Given the description of an element on the screen output the (x, y) to click on. 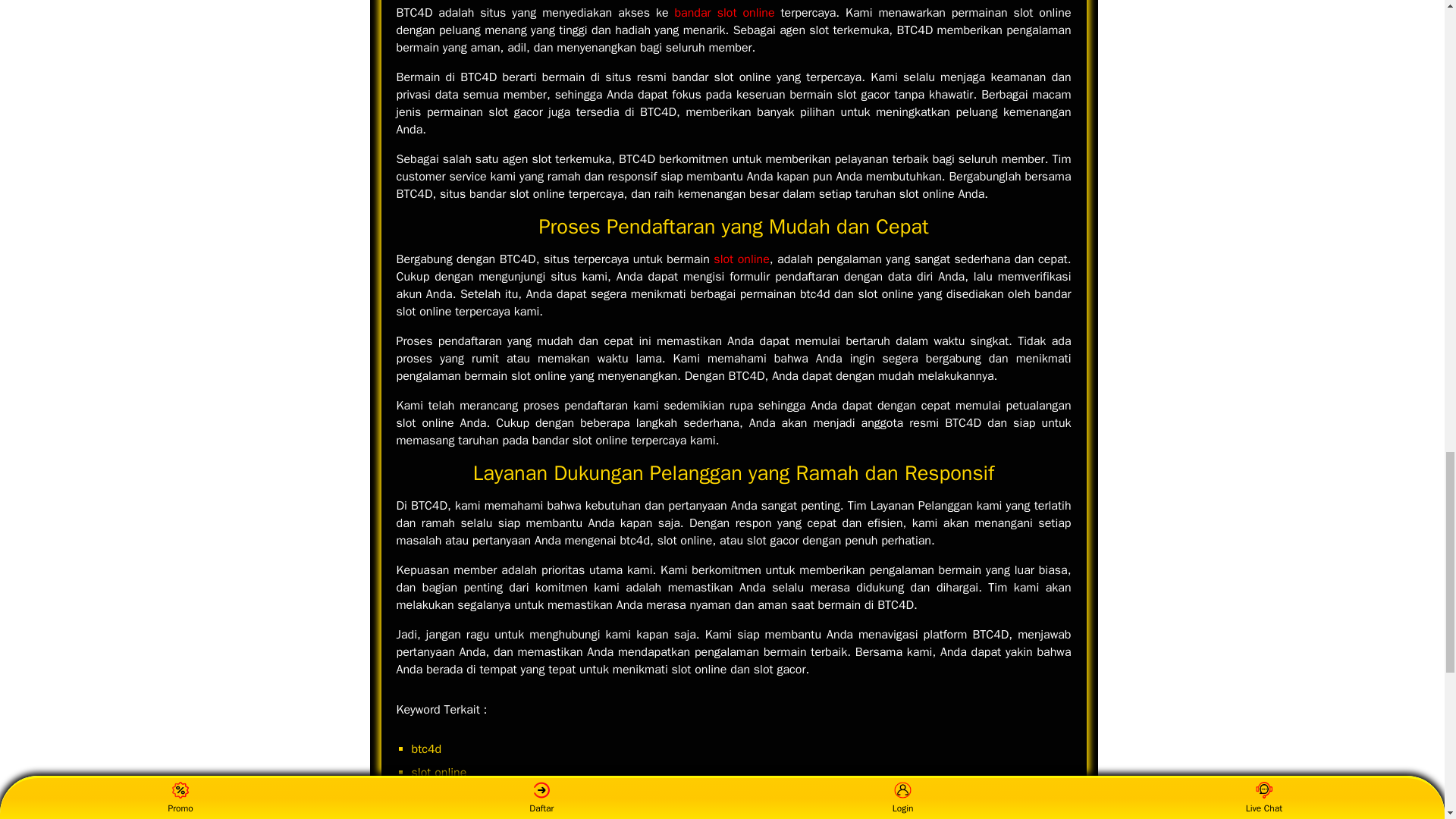
slot online (741, 258)
bandar slot online (724, 12)
bandar slot online (724, 12)
slot online (741, 258)
